Given the description of an element on the screen output the (x, y) to click on. 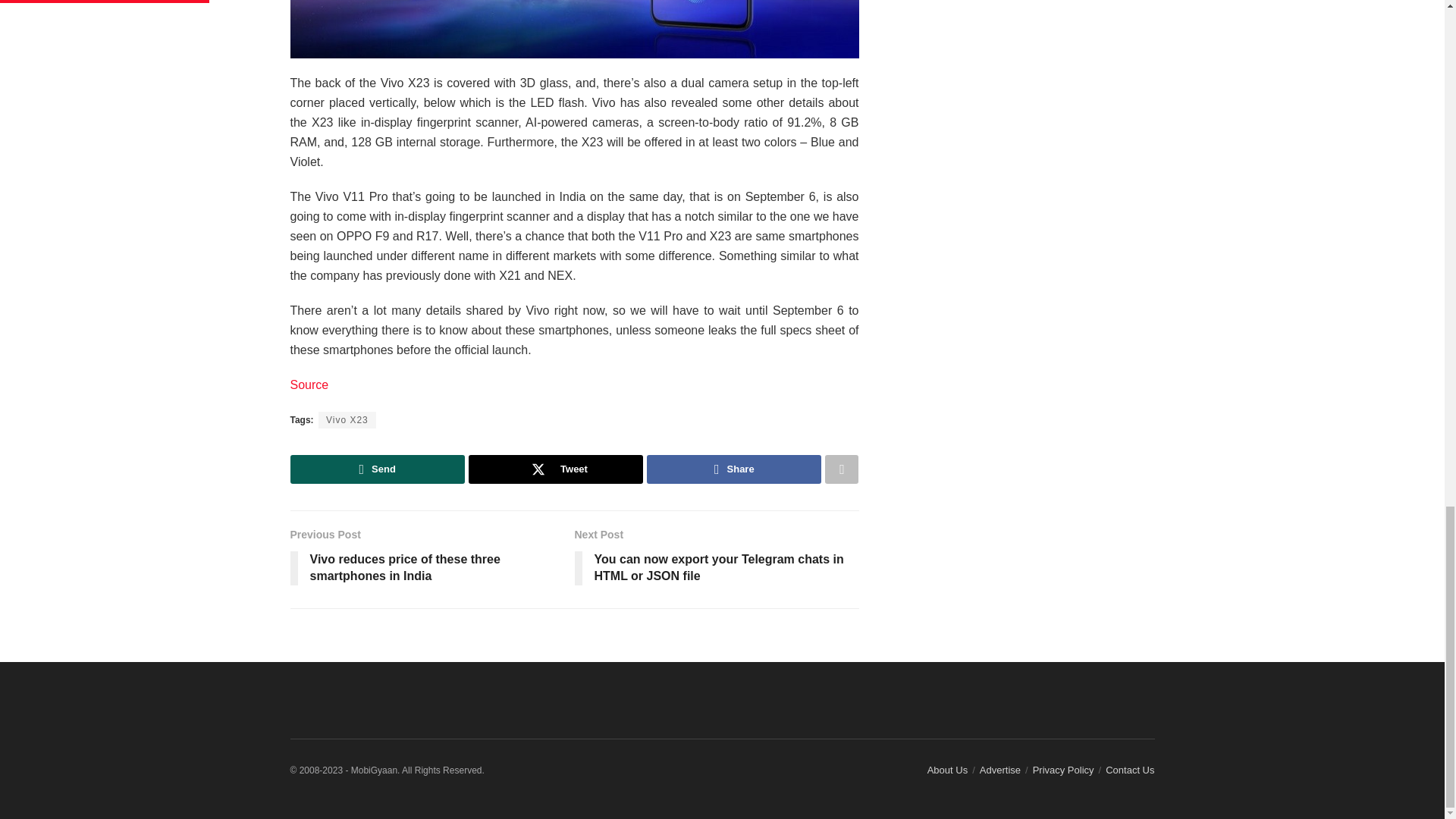
Send (376, 469)
Source (309, 384)
Vivo X23 (346, 419)
